Given the description of an element on the screen output the (x, y) to click on. 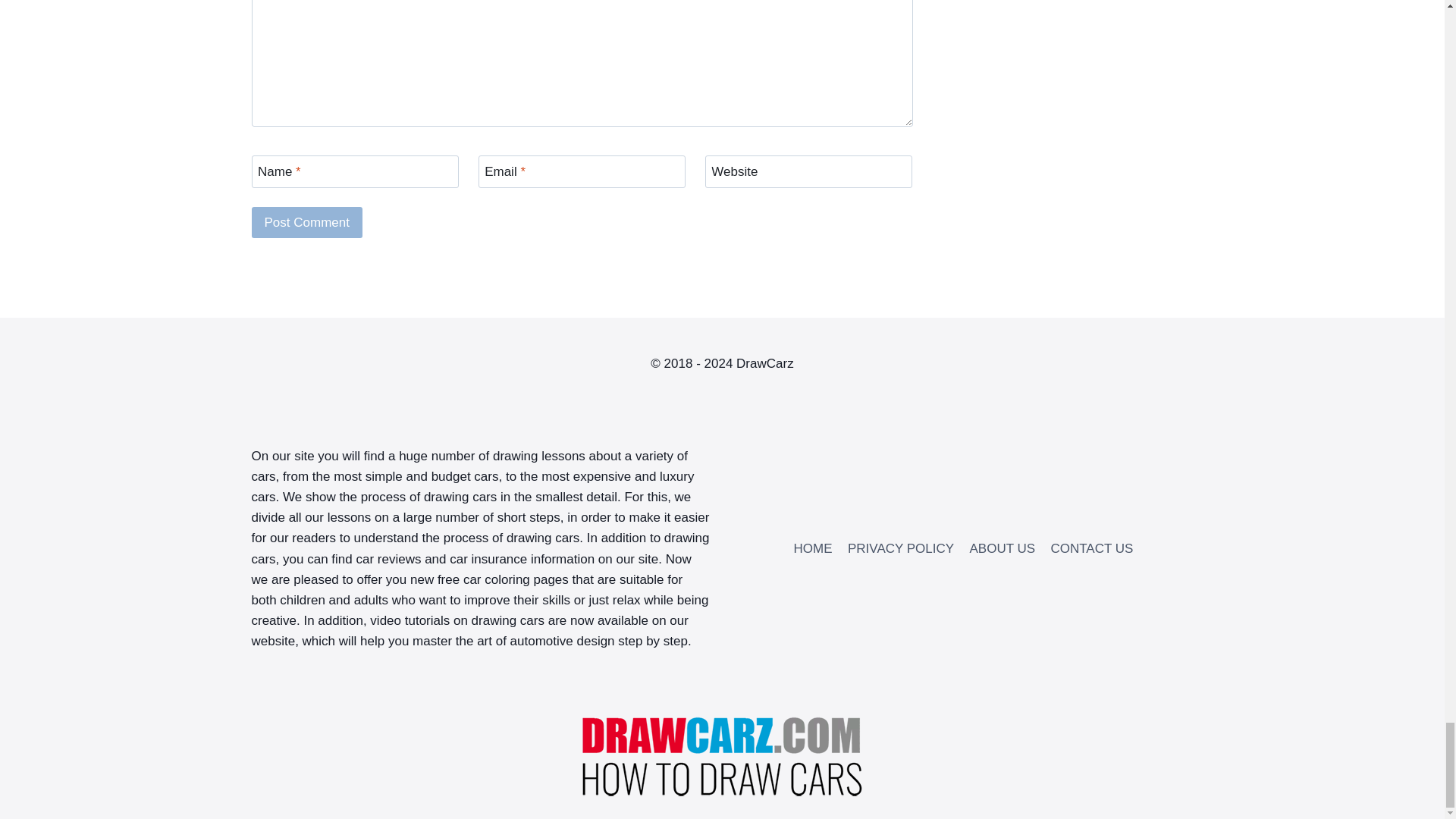
Post Comment (306, 222)
